Given the description of an element on the screen output the (x, y) to click on. 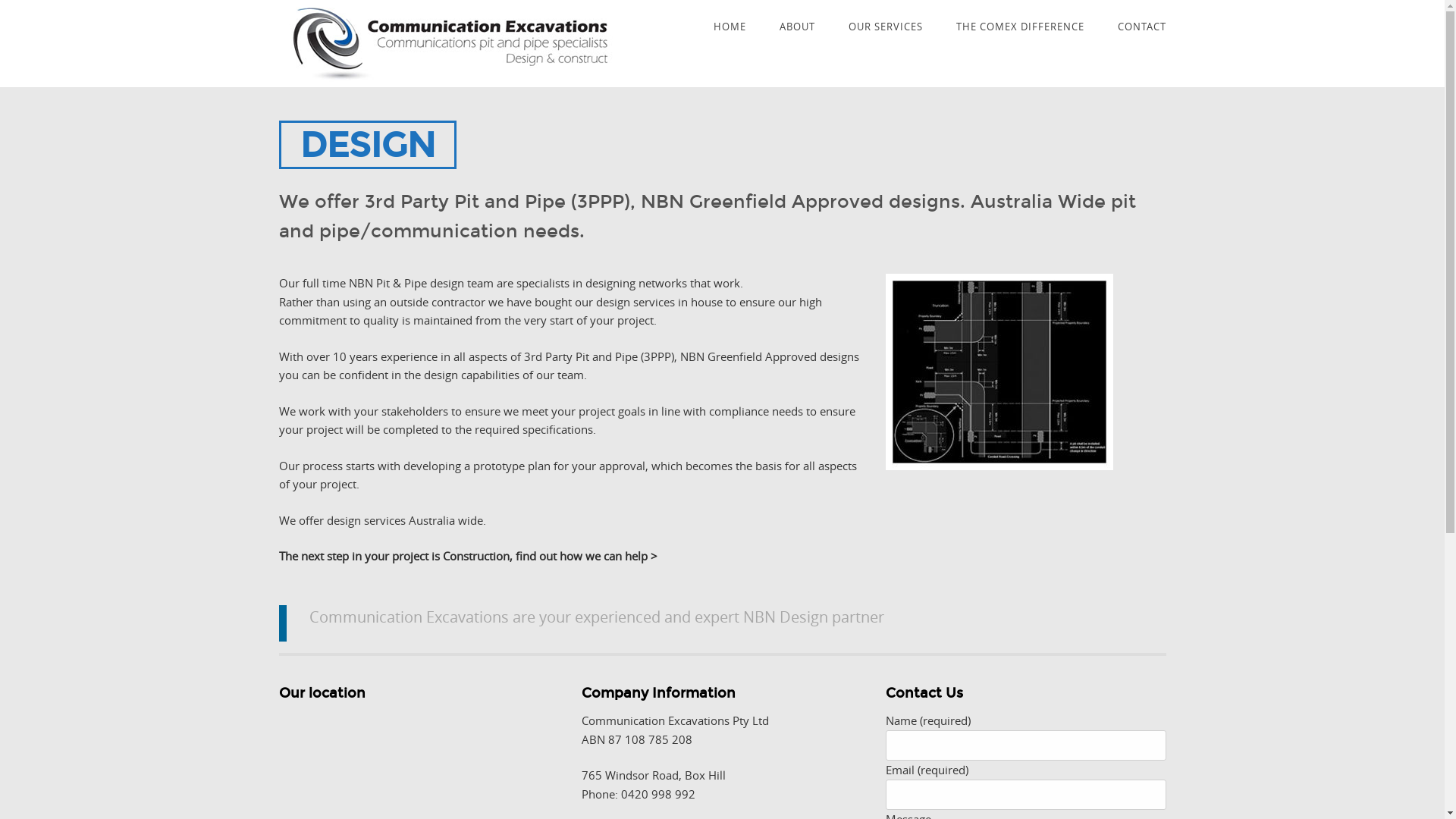
CONTACT Element type: text (1141, 26)
ABOUT Element type: text (797, 26)
HOME Element type: text (728, 26)
THE COMEX DIFFERENCE Element type: text (1019, 26)
OUR SERVICES Element type: text (884, 26)
